Given the description of an element on the screen output the (x, y) to click on. 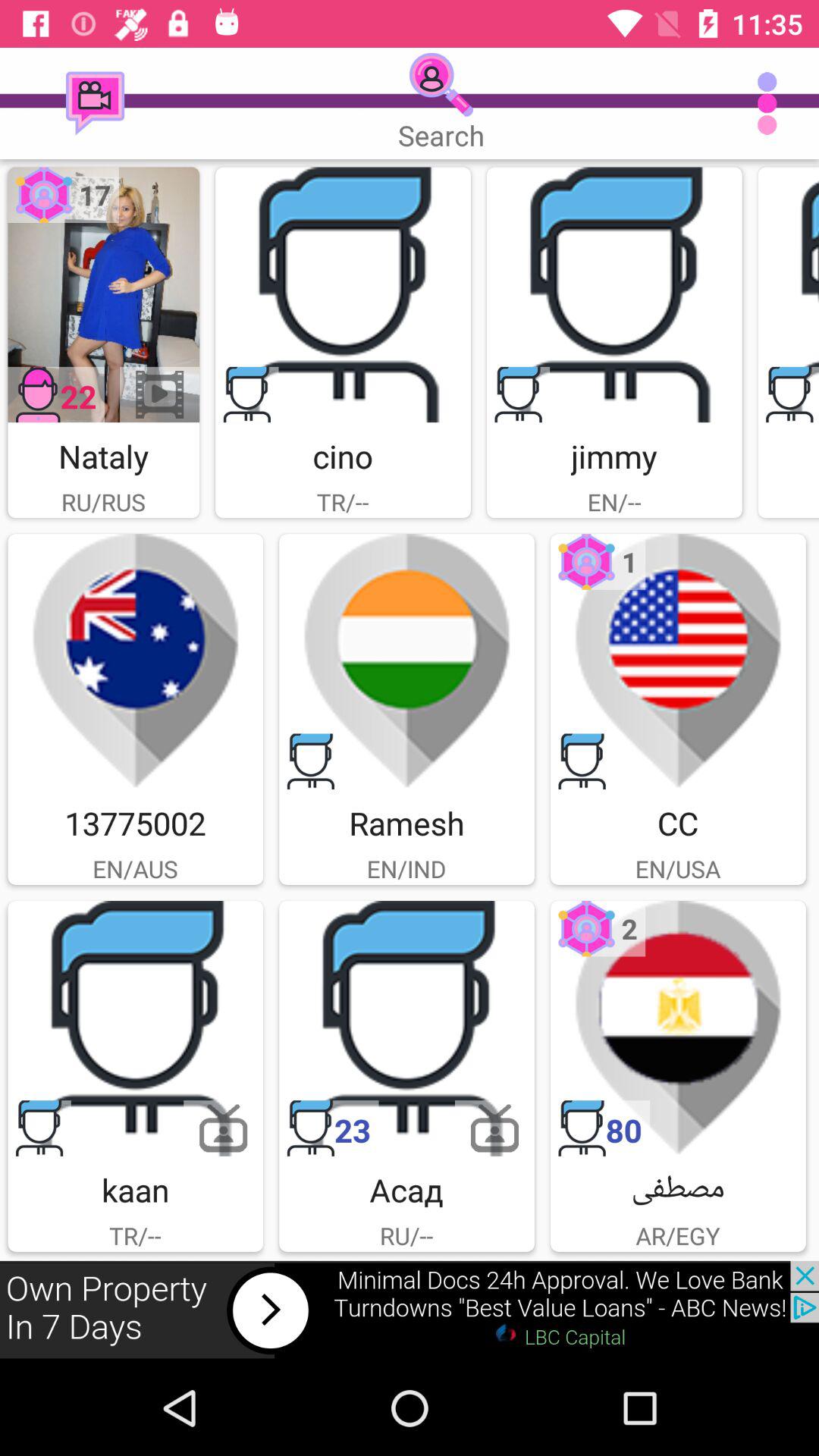
click cino (342, 294)
